Given the description of an element on the screen output the (x, y) to click on. 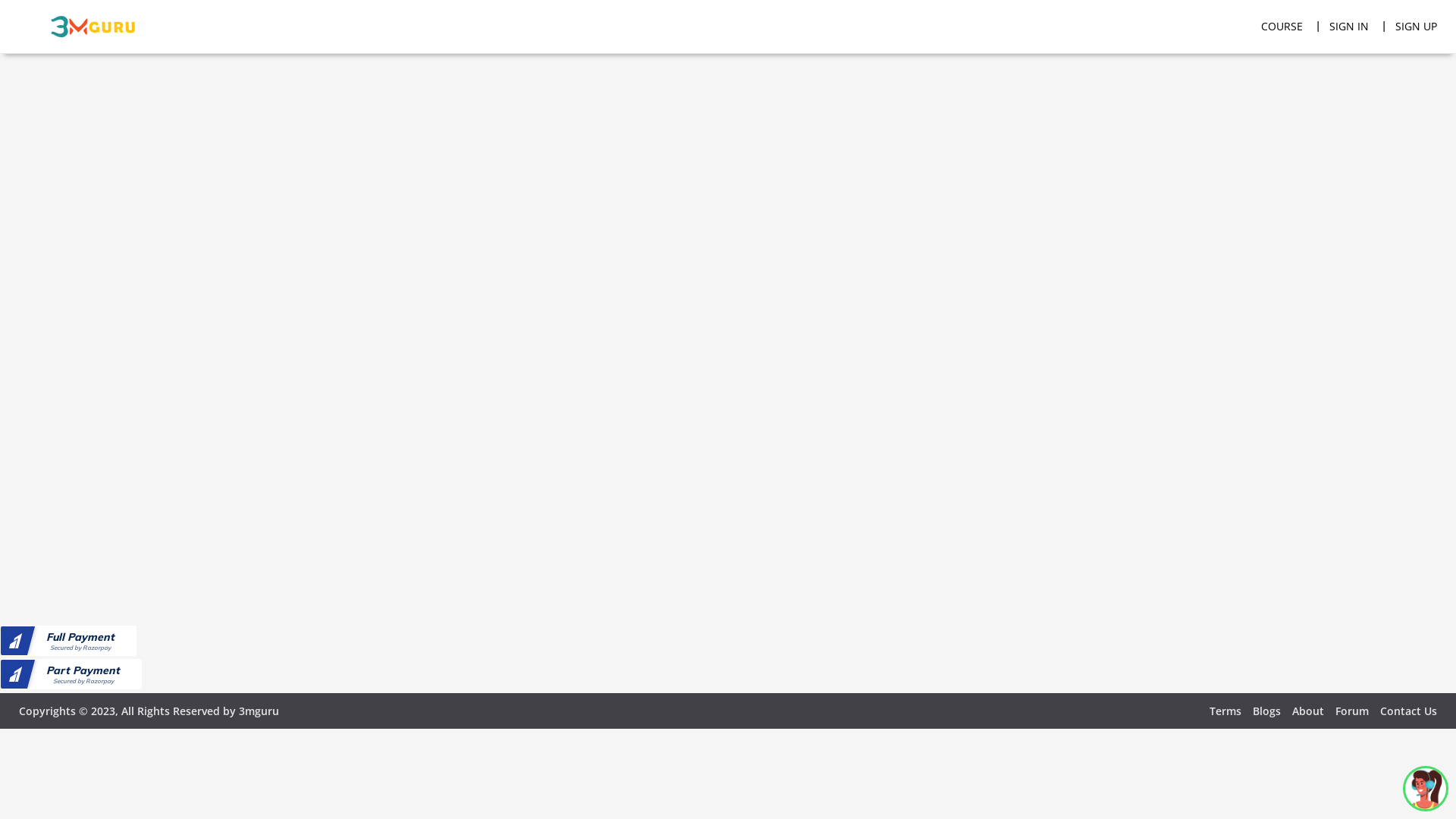
SIGN UP Element type: text (1410, 26)
Terms Element type: text (1225, 710)
SIGN IN Element type: text (1348, 26)
COURSE Element type: text (1281, 26)
Contact Us Element type: text (1408, 710)
Full Payment
Secured by Razorpay Element type: text (68, 640)
Blogs Element type: text (1266, 710)
About Element type: text (1308, 710)
Forum Element type: text (1351, 710)
Part Payment
Secured by Razorpay Element type: text (70, 673)
